Given the description of an element on the screen output the (x, y) to click on. 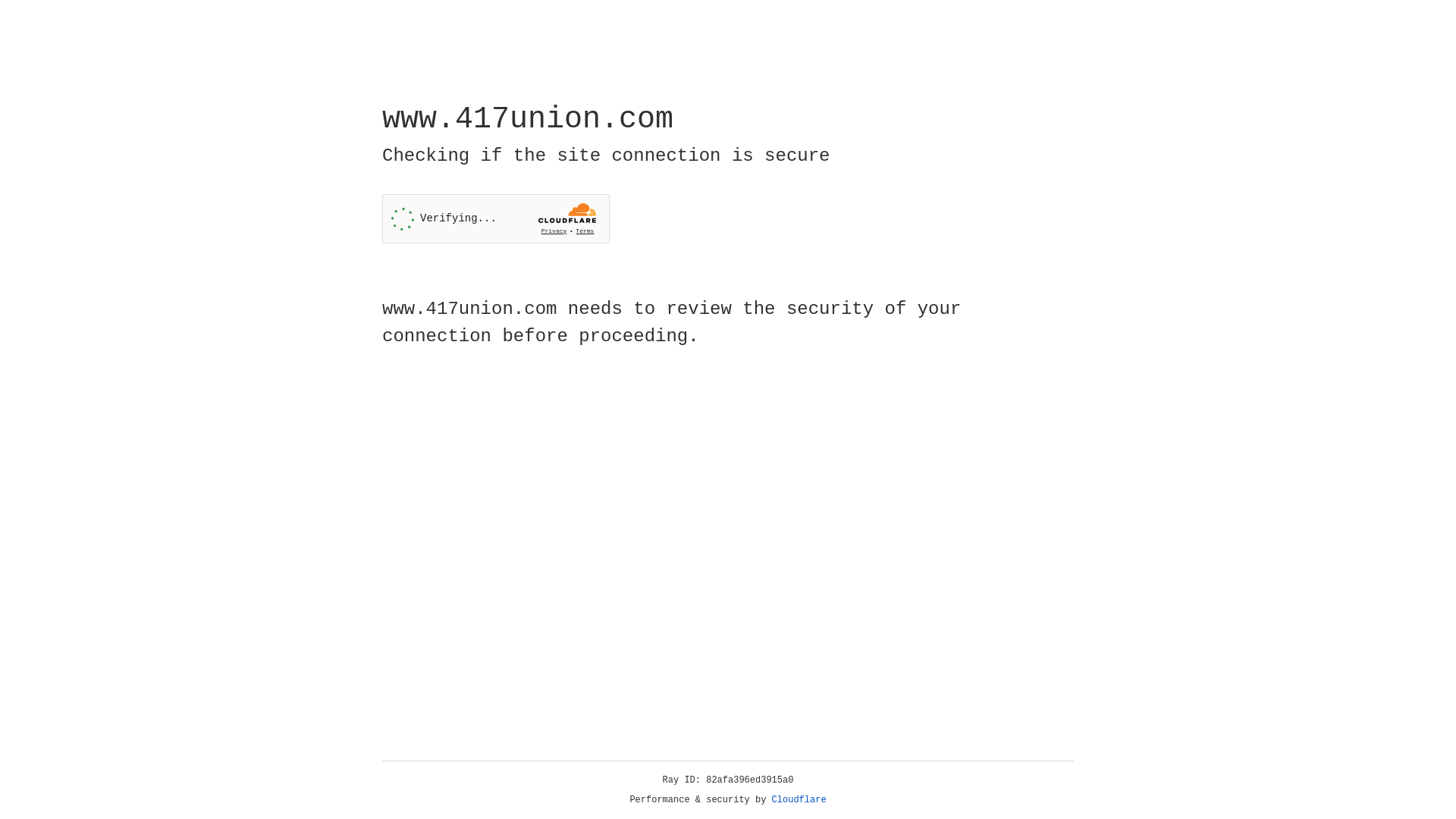
Cloudflare Element type: text (798, 799)
Widget containing a Cloudflare security challenge Element type: hover (495, 218)
